Given the description of an element on the screen output the (x, y) to click on. 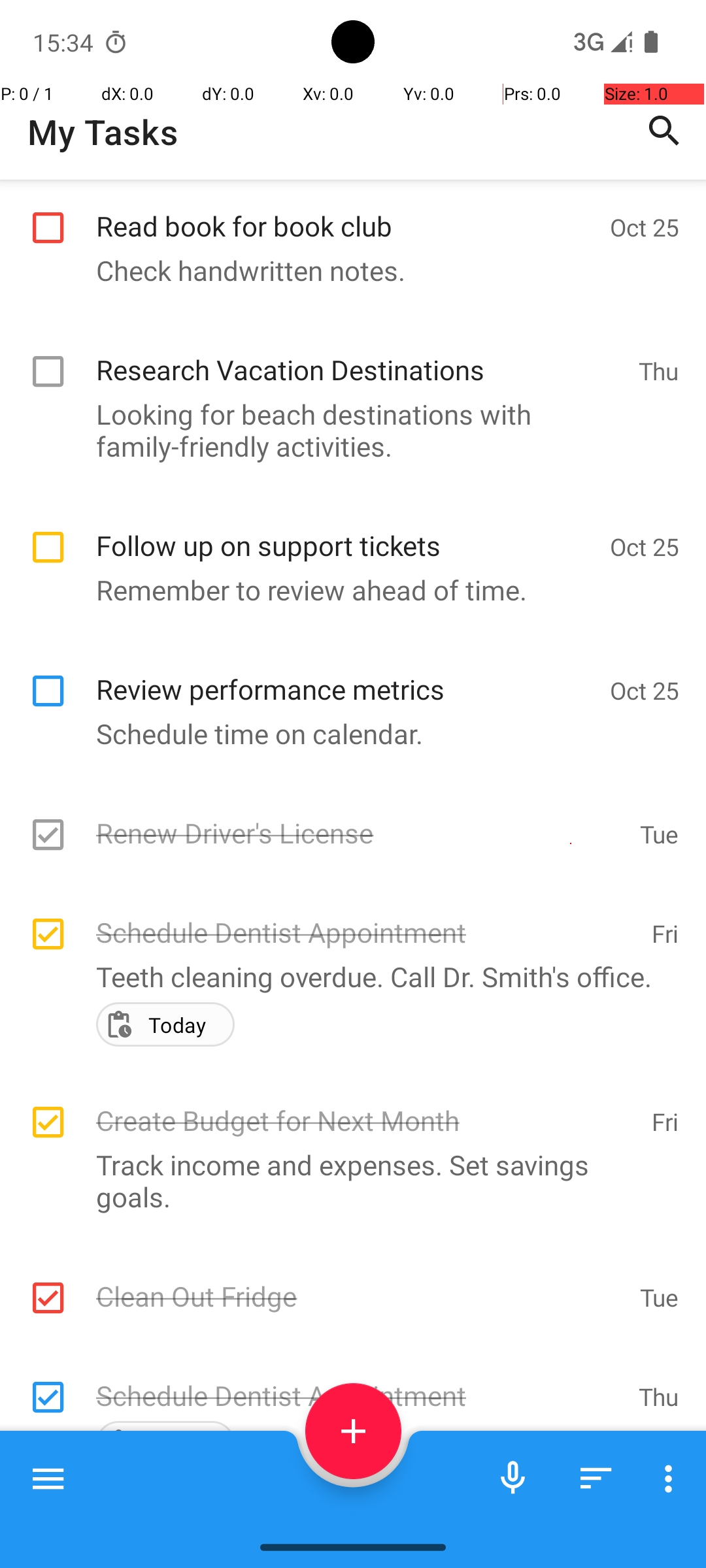
Read book for book club Element type: android.widget.TextView (346, 211)
Check handwritten notes. Element type: android.widget.TextView (346, 269)
Oct 25 Element type: android.widget.TextView (644, 226)
Follow up on support tickets Element type: android.widget.TextView (346, 531)
Remember to review ahead of time. Element type: android.widget.TextView (346, 589)
Schedule time on calendar. Element type: android.widget.TextView (346, 732)
